Given the description of an element on the screen output the (x, y) to click on. 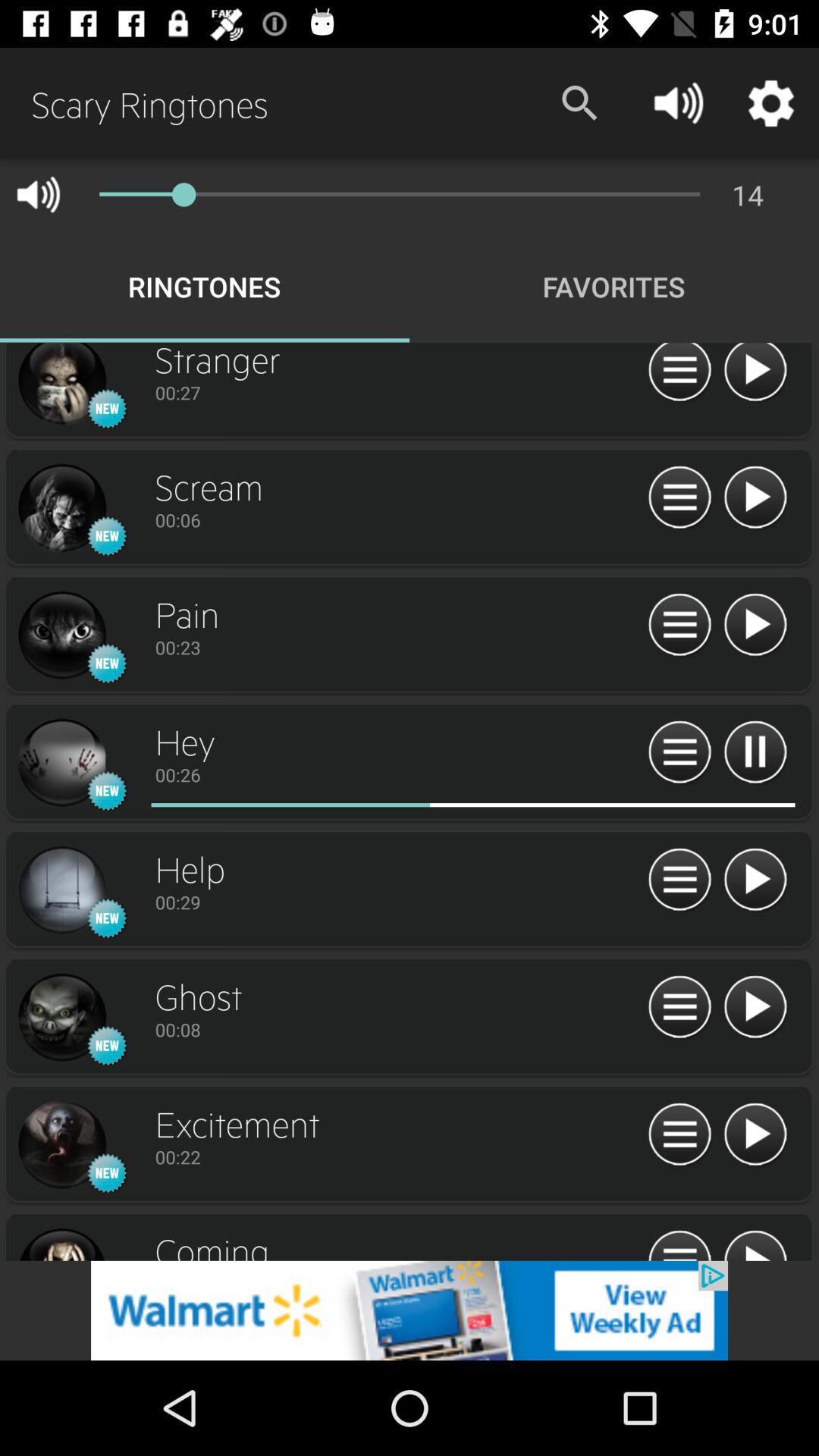
go to play option (755, 1007)
